Given the description of an element on the screen output the (x, y) to click on. 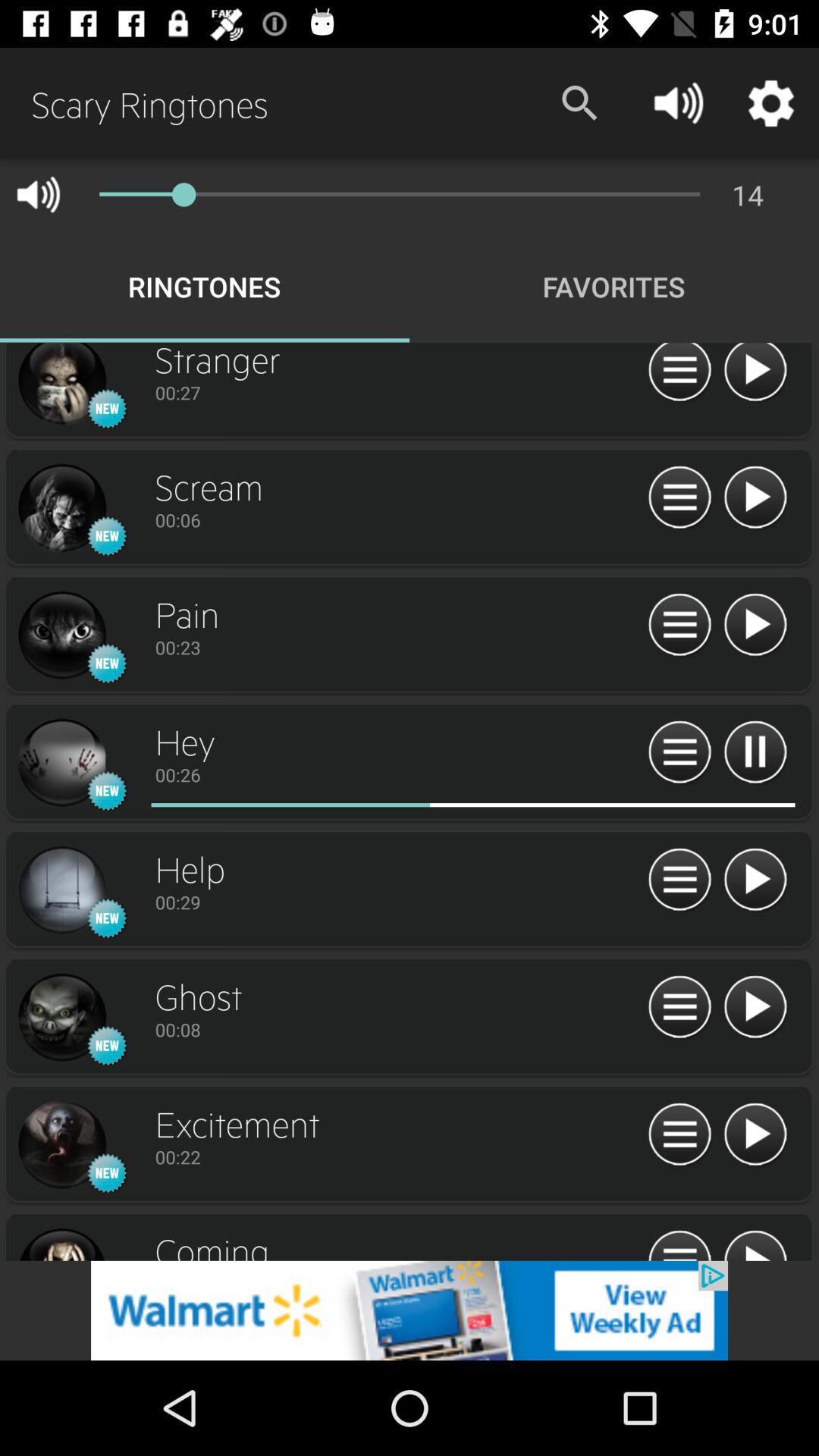
go to play option (755, 1007)
